Given the description of an element on the screen output the (x, y) to click on. 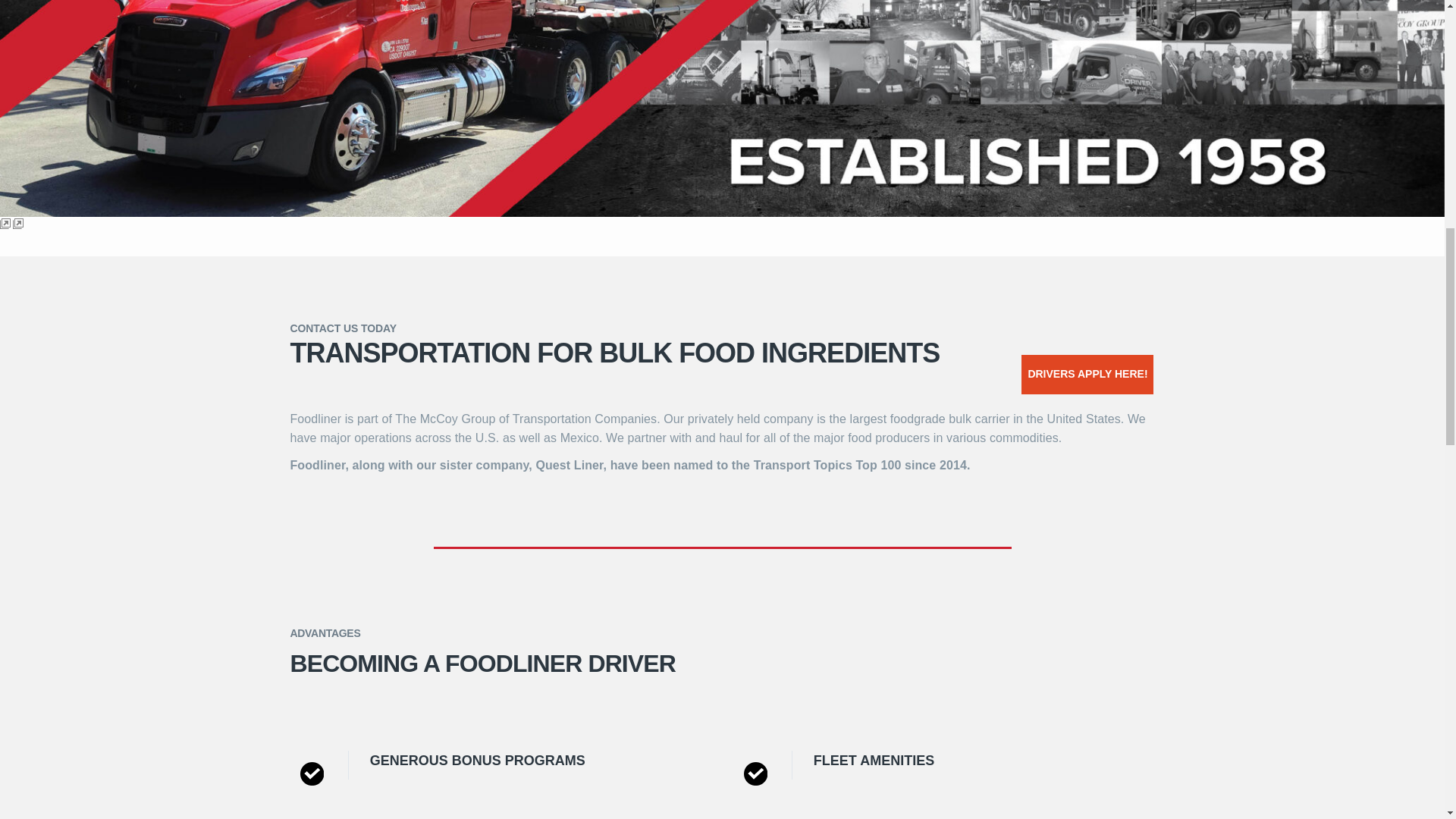
DRIVERS APPLY HERE! (1087, 373)
